Given the description of an element on the screen output the (x, y) to click on. 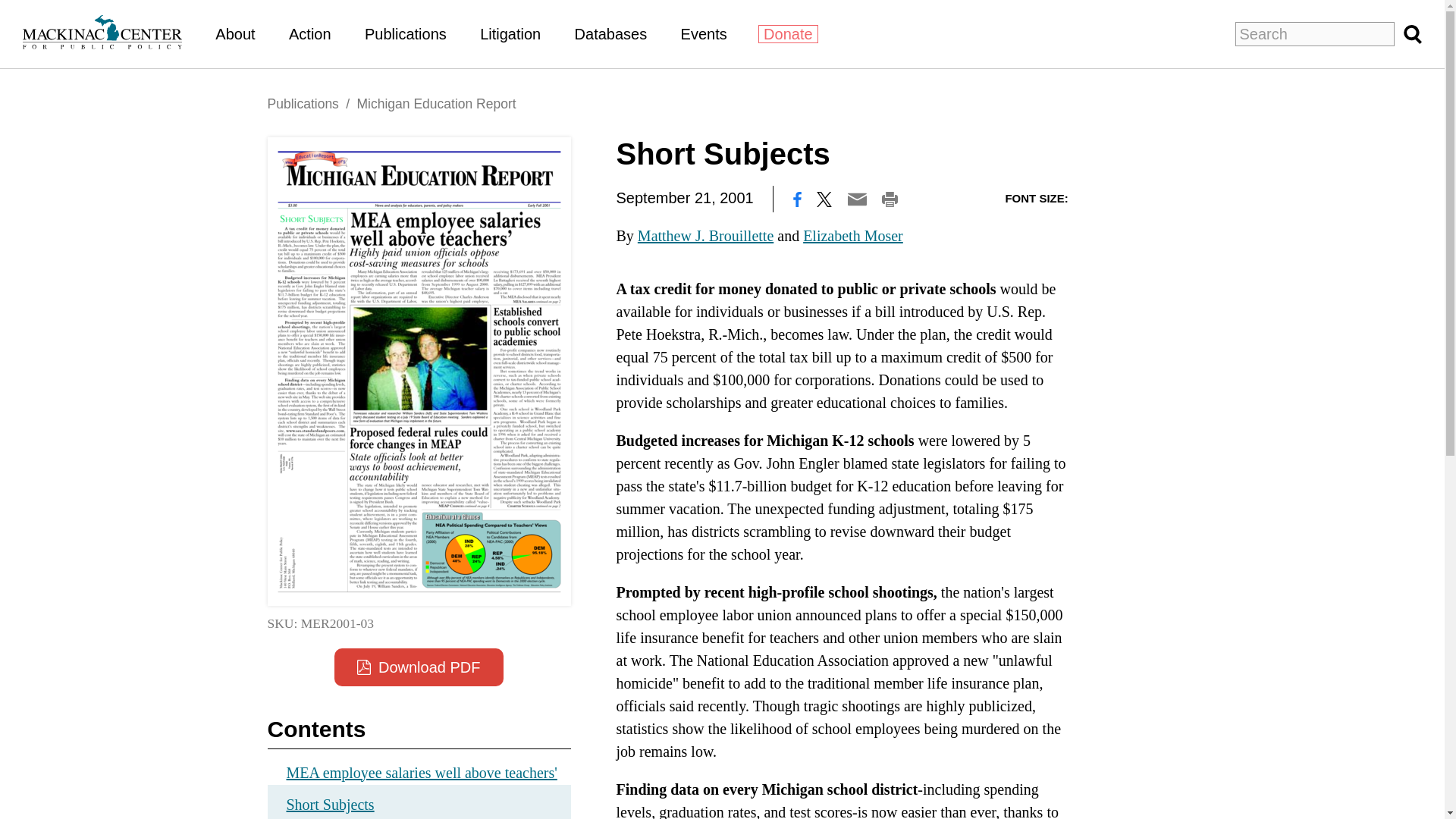
Donate (788, 34)
Action (309, 33)
MEA employee salaries well above teachers' (421, 772)
Matthew J. Brouillette (705, 235)
Litigation (510, 33)
Databases (611, 33)
Publications (405, 33)
Short Subjects (418, 801)
Events (703, 33)
Publications (301, 103)
About (234, 33)
Elizabeth Moser (852, 235)
Download PDF (418, 667)
Michigan Education Report (435, 103)
